Given the description of an element on the screen output the (x, y) to click on. 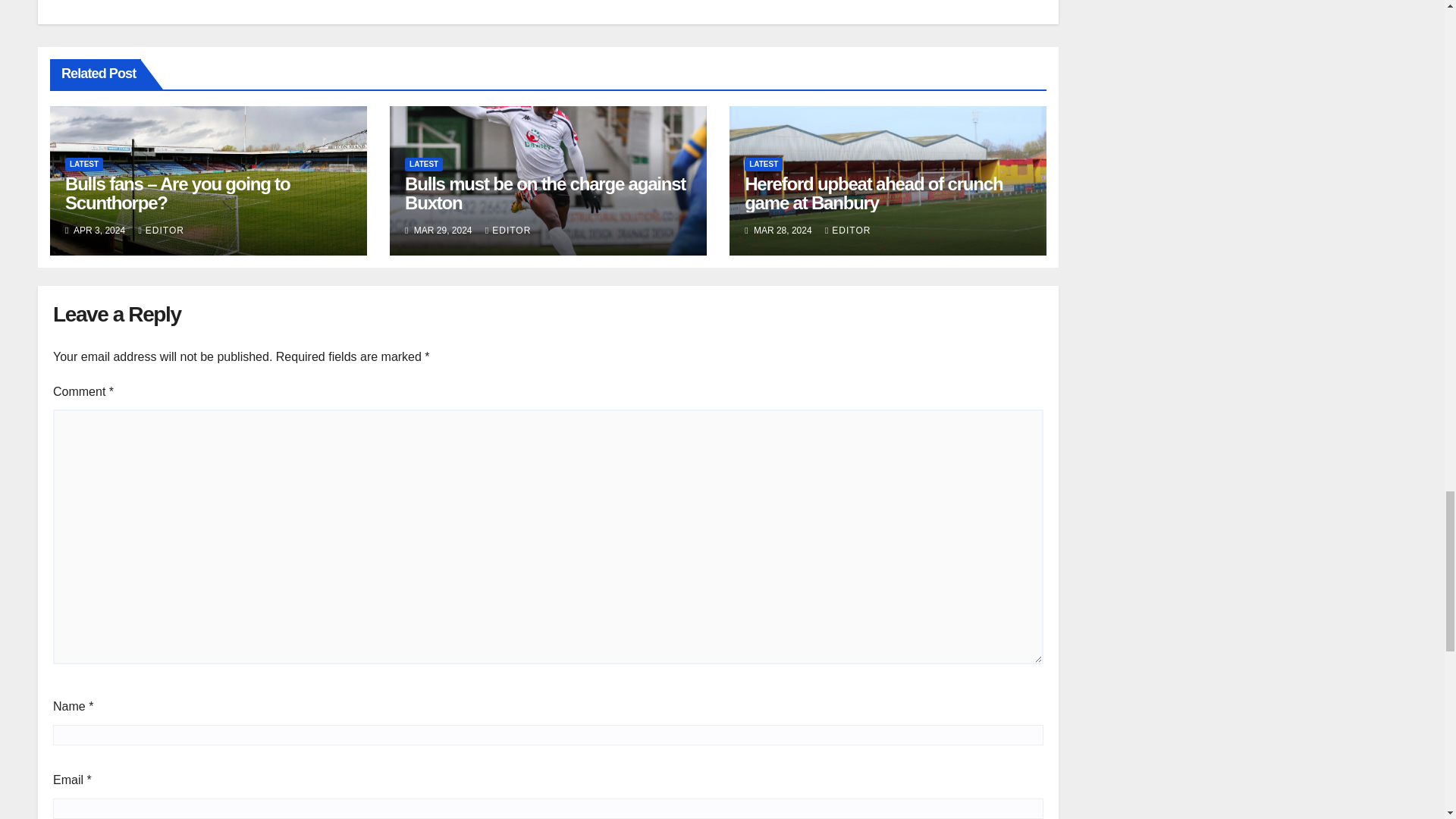
Permalink to: Bulls must be on the charge against Buxton (544, 192)
